Given the description of an element on the screen output the (x, y) to click on. 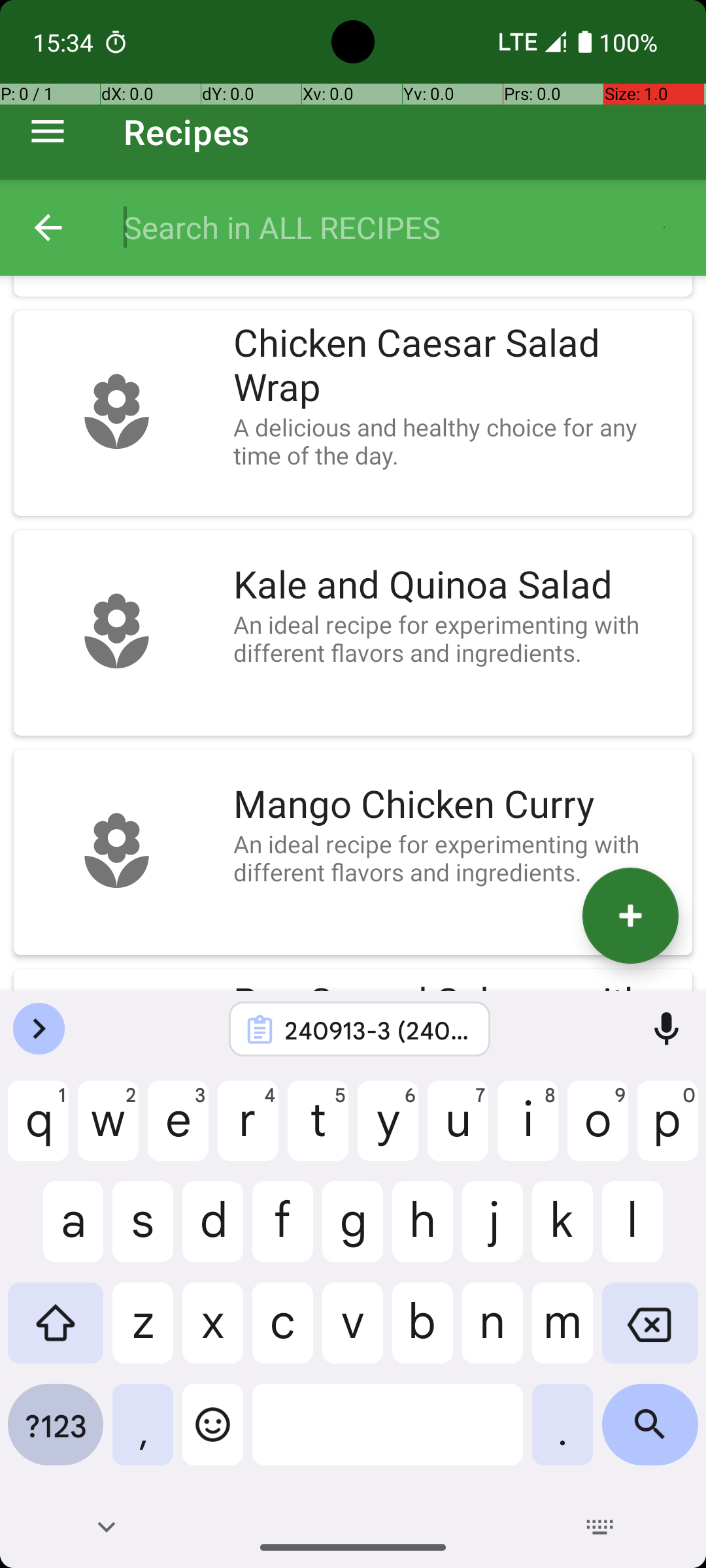
Search in ALL RECIPES Element type: android.widget.AutoCompleteTextView (400, 227)
Mango Chicken Curry Element type: android.widget.TextView (455, 804)
Pan-Seared Salmon with Quinoa Element type: android.widget.TextView (455, 985)
240913-3 (240906-2的from base对照组) Element type: android.widget.TextView (376, 1029)
